Given the description of an element on the screen output the (x, y) to click on. 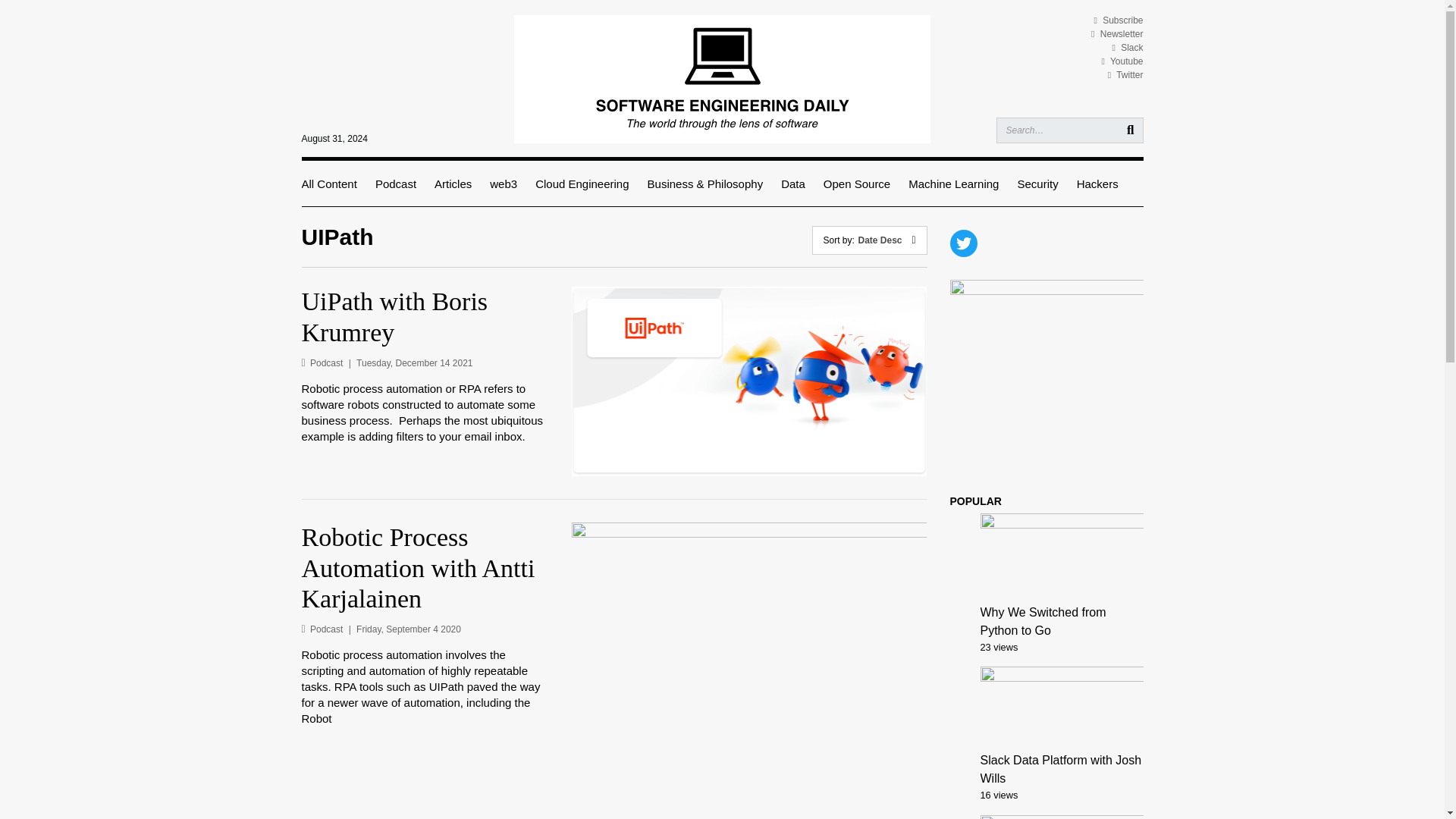
All Content (328, 183)
UiPath with Boris Krumrey (424, 317)
Search for: (1068, 130)
Slack (1127, 47)
Subscribe (1117, 20)
Twitter (1125, 74)
Hackers (1097, 183)
Slack Data Platform with Josh Wills (1060, 768)
Robotic Process Automation with Antti Karjalainen (424, 568)
Why We Switched from Python to Go (1042, 621)
